Given the description of an element on the screen output the (x, y) to click on. 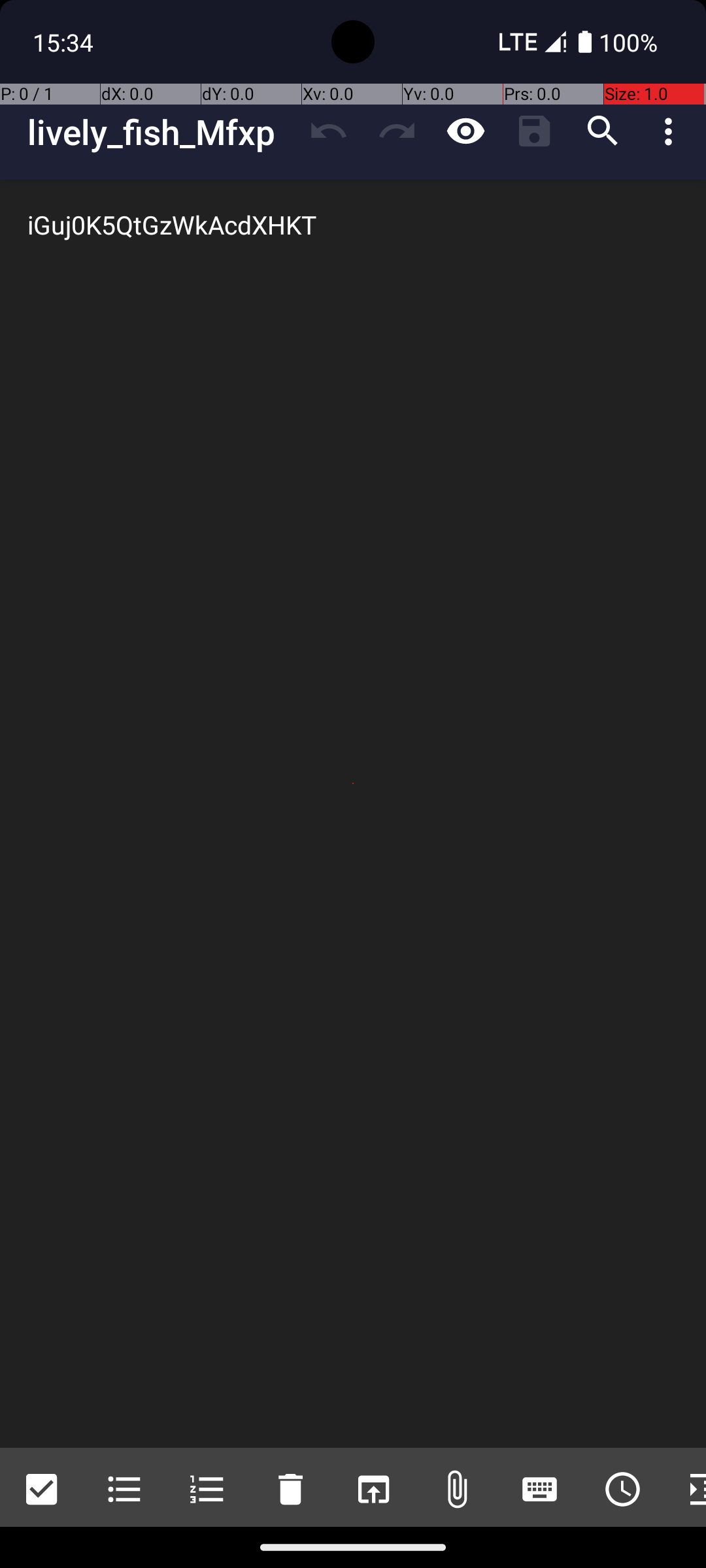
lively_fish_Mfxp Element type: android.widget.TextView (160, 131)
iGuj0K5QtGzWkAcdXHKT
 Element type: android.widget.EditText (353, 813)
